Given the description of an element on the screen output the (x, y) to click on. 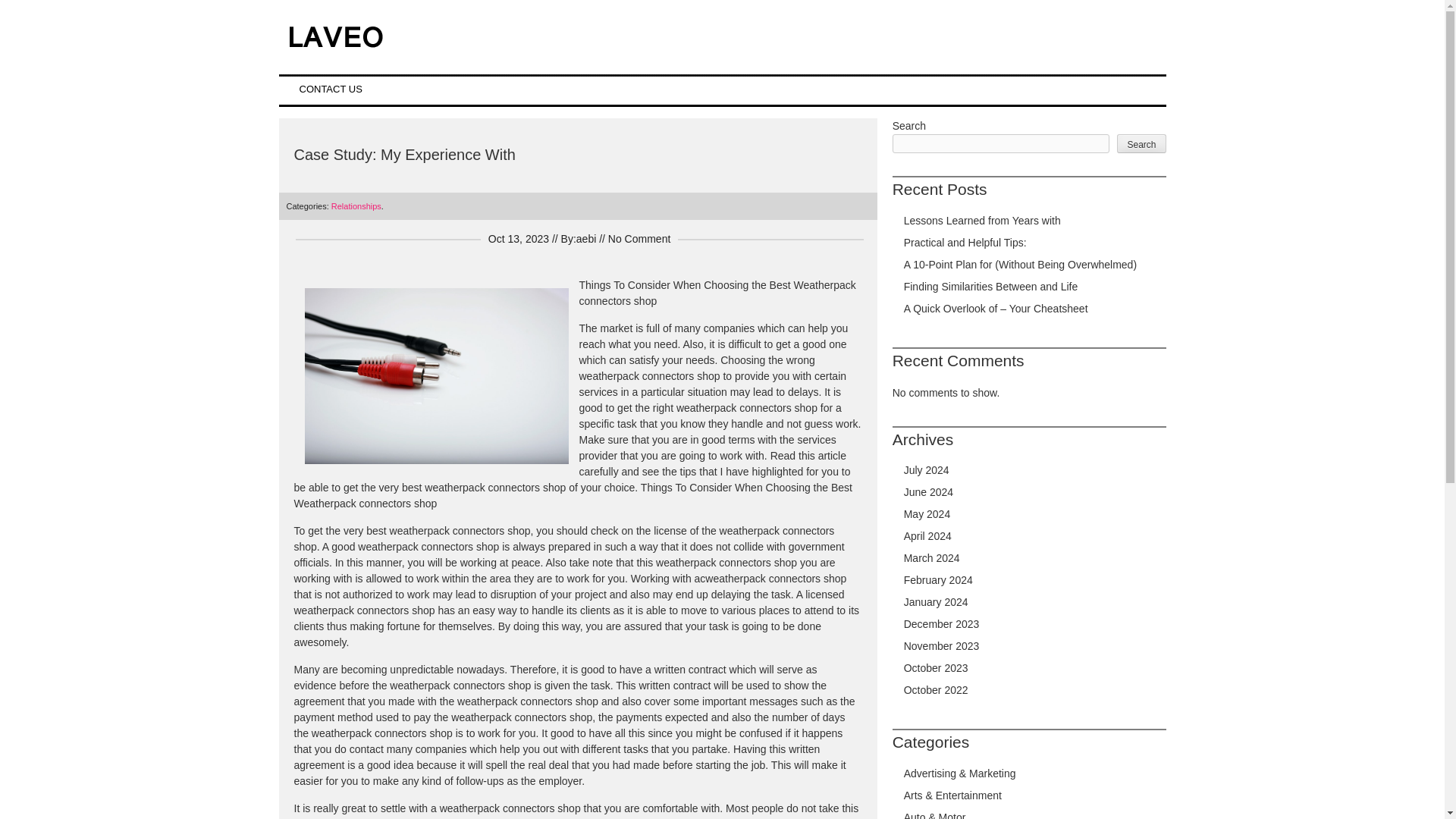
January 2024 (936, 602)
May 2024 (927, 513)
Search (1141, 143)
Finding Similarities Between and Life (991, 286)
Relationships (356, 205)
Lessons Learned from Years with (982, 220)
October 2023 (936, 667)
July 2024 (926, 469)
March 2024 (931, 558)
CONTACT US (330, 89)
